Given the description of an element on the screen output the (x, y) to click on. 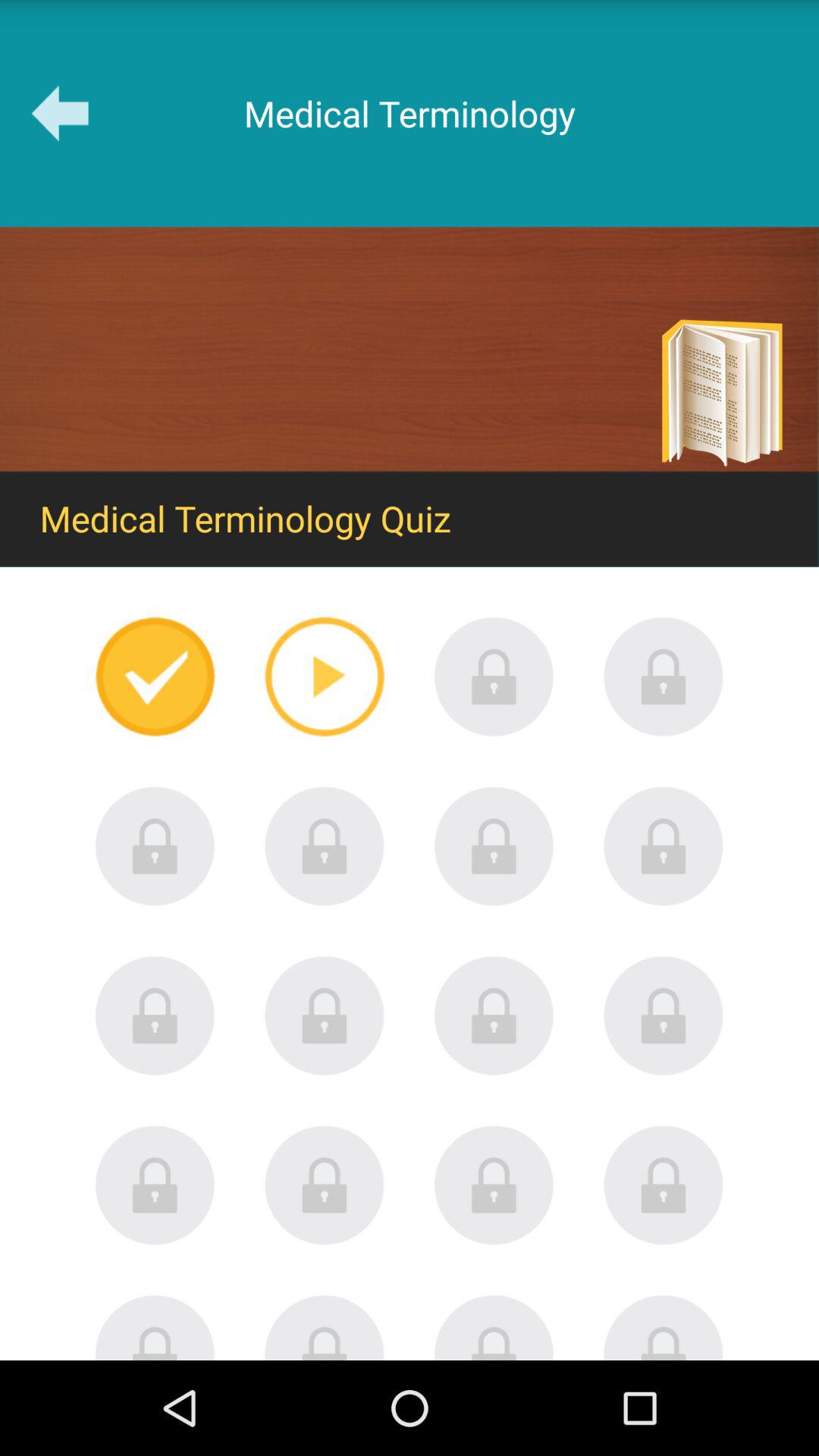
you passed (154, 676)
